Given the description of an element on the screen output the (x, y) to click on. 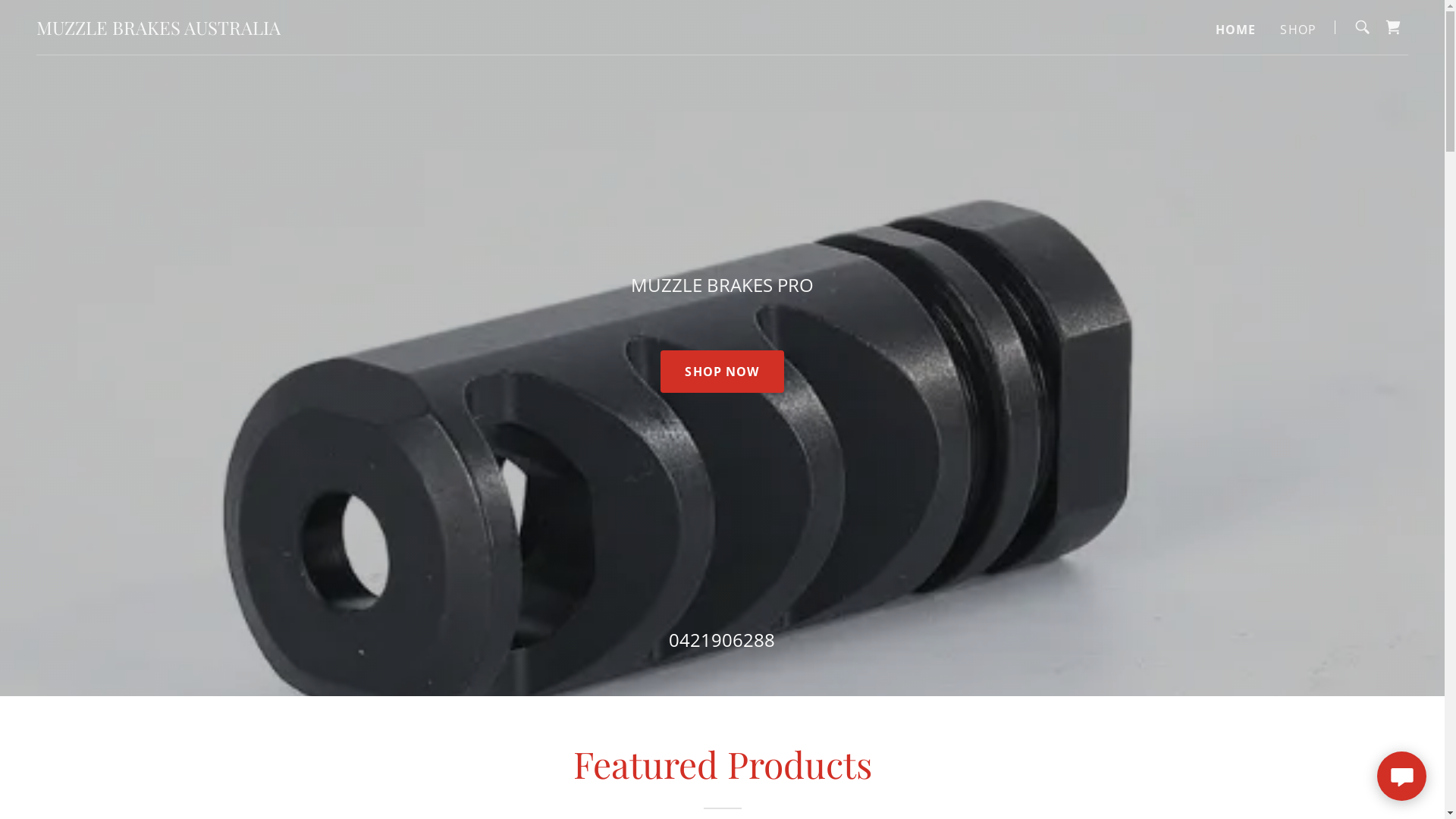
MUZZLE BRAKES AUSTRALIA Element type: text (158, 28)
SHOP NOW Element type: text (721, 371)
SHOP Element type: text (1298, 28)
HOME Element type: text (1235, 28)
0421906288 Element type: text (721, 639)
